Given the description of an element on the screen output the (x, y) to click on. 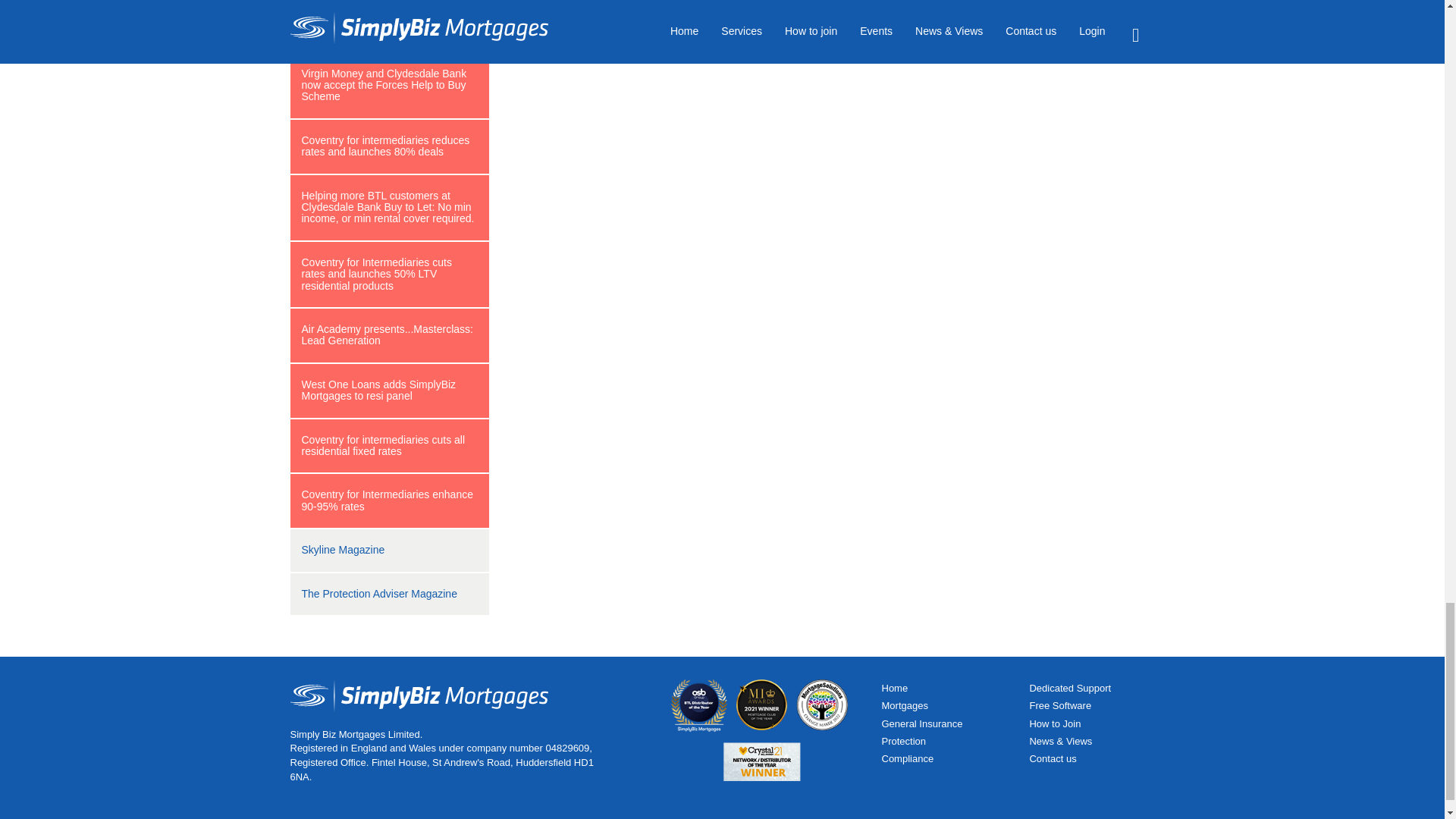
Mortgages (903, 705)
Simply Biz Mortgages Home (893, 687)
How to Join (1054, 723)
Compliance (906, 758)
Free Software (1059, 705)
General Insurance (921, 723)
Dedicated Support (1069, 687)
Contact us (1052, 758)
Protection (903, 740)
